Given the description of an element on the screen output the (x, y) to click on. 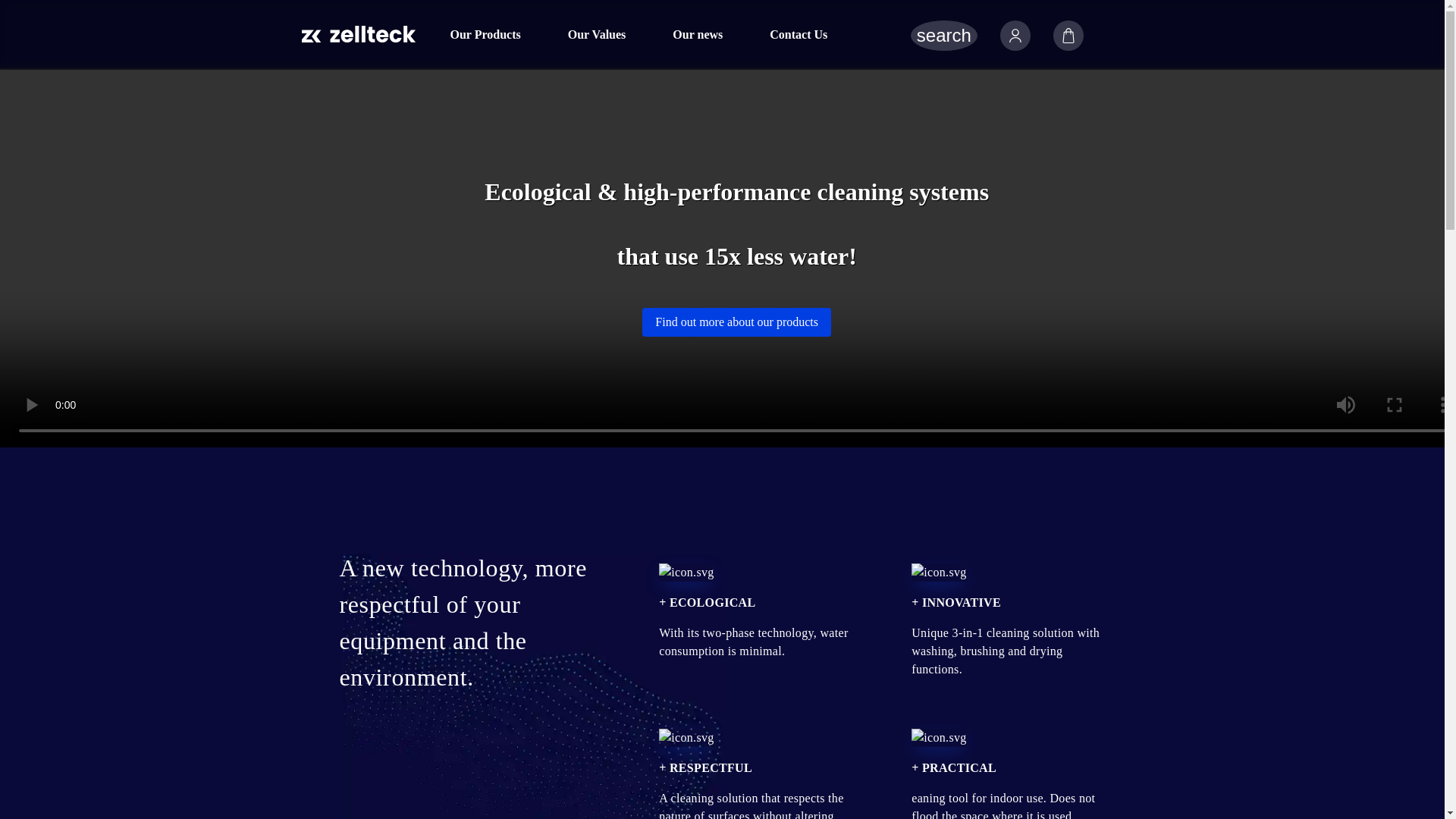
Contact Us (798, 34)
Find out more about our products (736, 321)
Our Products (484, 34)
Our Values (596, 34)
Our news (697, 34)
